Given the description of an element on the screen output the (x, y) to click on. 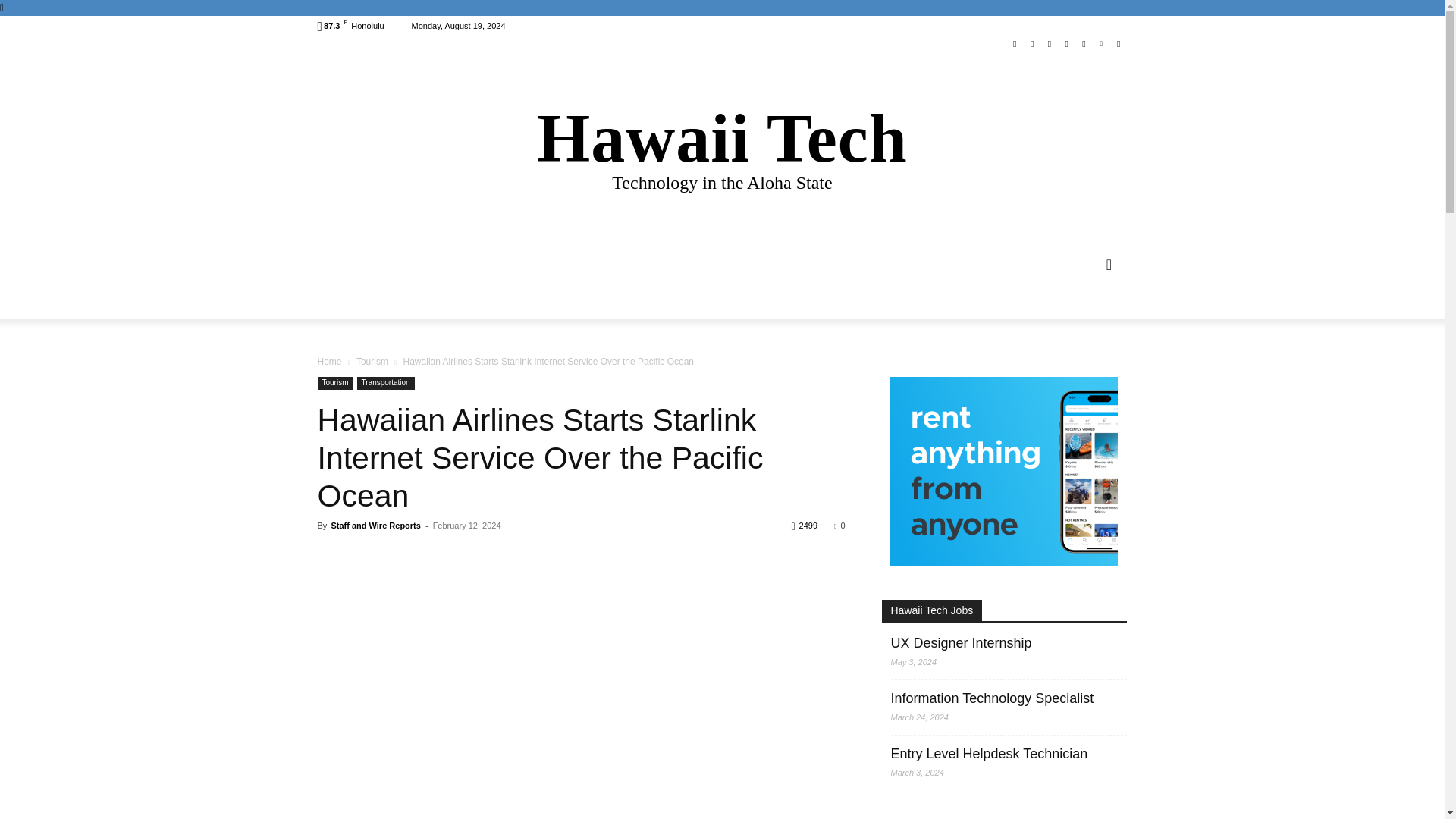
Youtube (1084, 44)
Pinterest (1101, 44)
Twitter (1066, 44)
Instagram (1049, 44)
Mail-1 (1014, 44)
Facebook (721, 145)
